Given the description of an element on the screen output the (x, y) to click on. 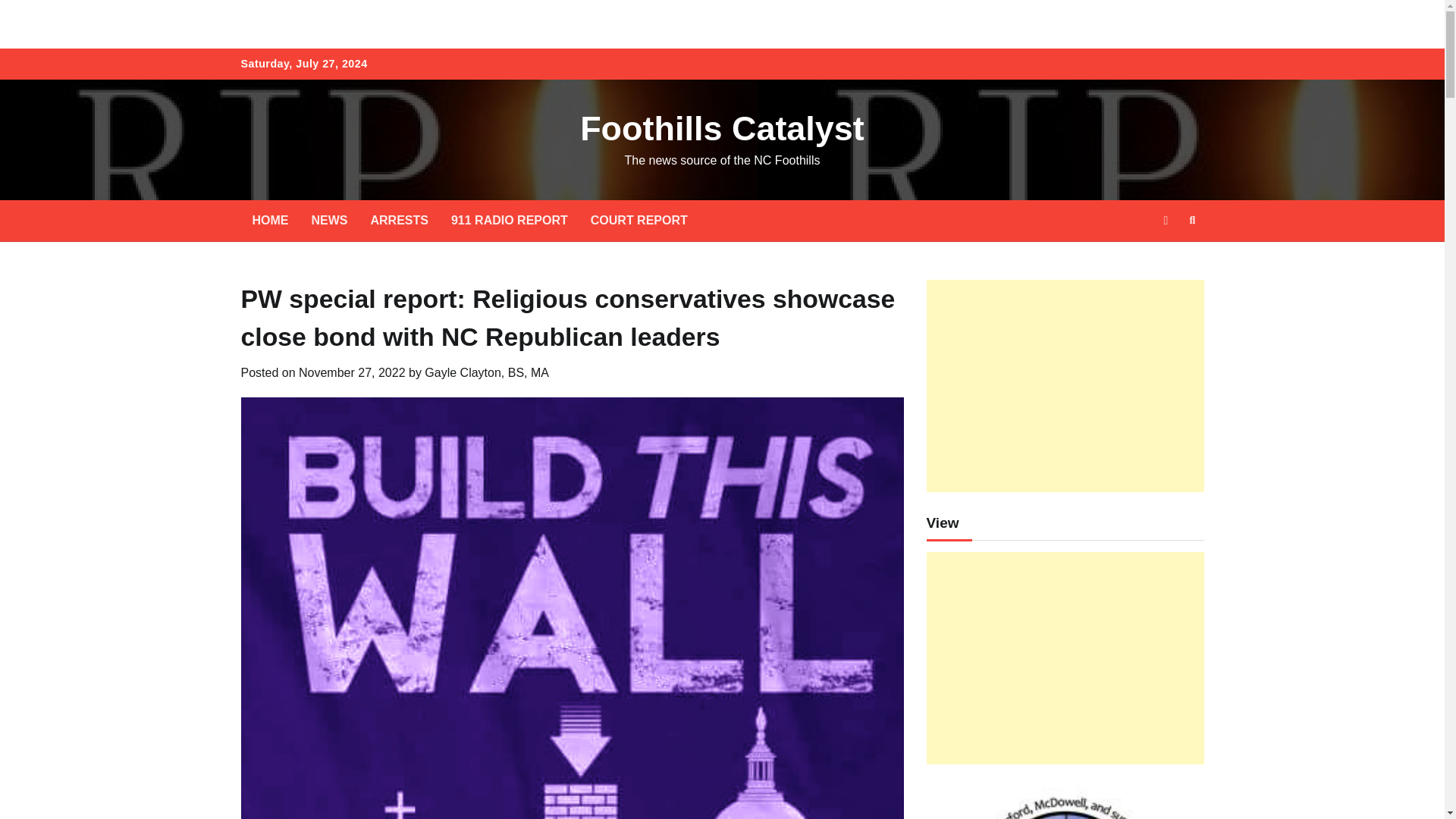
NEWS (329, 219)
Advertisement (1065, 658)
Foothills Catalyst (721, 128)
Gayle Clayton, BS, MA (486, 372)
911 RADIO REPORT (509, 219)
HOME (270, 219)
COURT REPORT (638, 219)
Search (1164, 256)
Advertisement (1065, 386)
November 27, 2022 (352, 372)
View Random Post (1165, 220)
Search (1192, 220)
ARRESTS (399, 219)
